Given the description of an element on the screen output the (x, y) to click on. 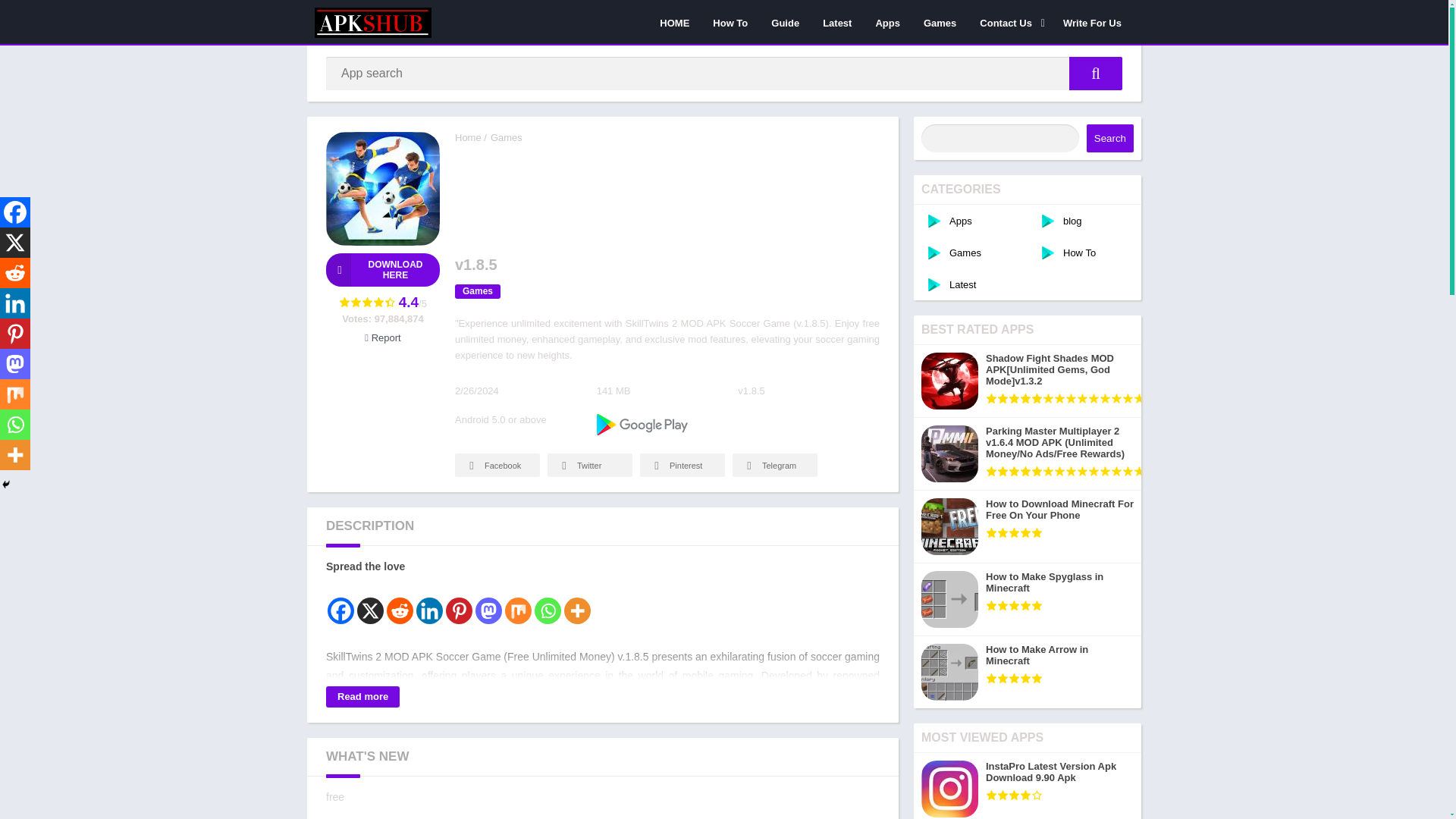
Contact Us (1009, 22)
HOME (673, 22)
Write For Us (1091, 22)
Apps (887, 22)
Home (467, 137)
Latest (836, 22)
Facebook (497, 464)
Twitter (589, 464)
Games (506, 137)
Report (382, 337)
App search (1095, 73)
Pinterest (682, 464)
Games (940, 22)
Games (477, 291)
APKsHub (467, 137)
